Given the description of an element on the screen output the (x, y) to click on. 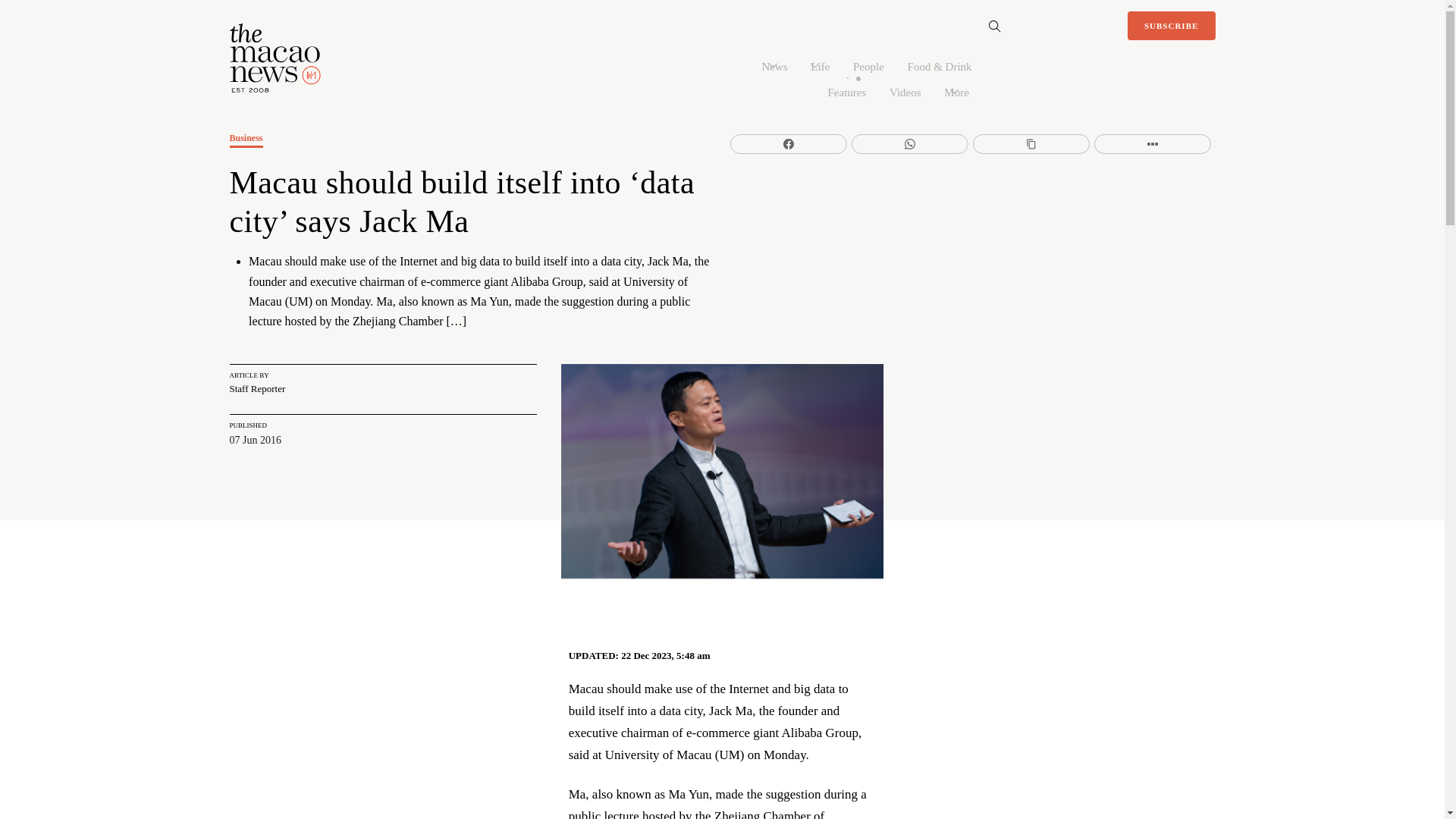
News (774, 65)
SUBSCRIBE (1170, 25)
Share on WhatsApp (909, 143)
Share on Facebook (788, 143)
Share on Copy Link (1030, 143)
Share on More Button (1152, 143)
20160607b (721, 470)
